Given the description of an element on the screen output the (x, y) to click on. 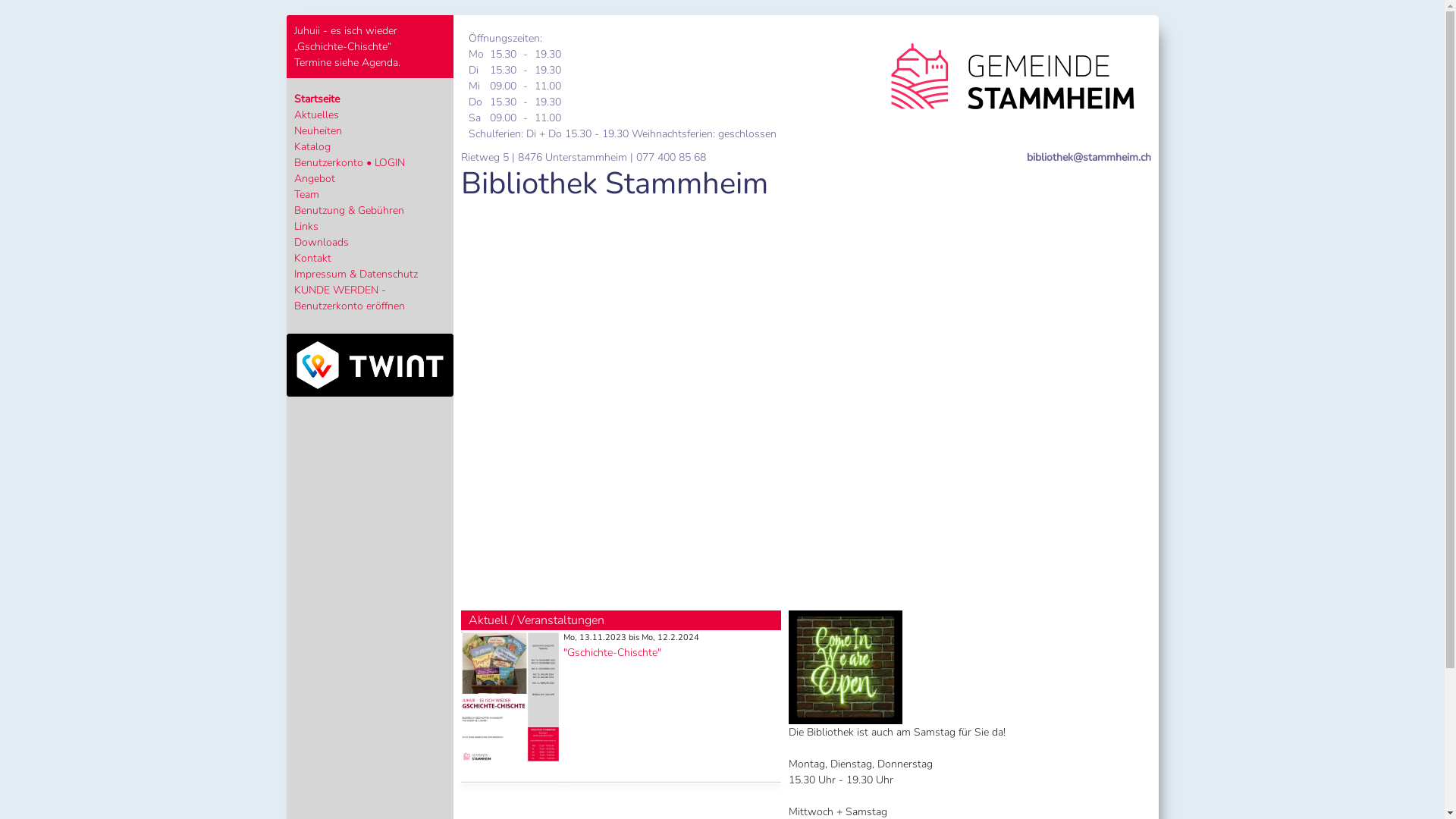
Downloads Element type: text (321, 242)
Impressum & Datenschutz Element type: text (355, 273)
Weiter Element type: text (1099, 397)
Links Element type: text (306, 226)
Startseite Element type: text (316, 98)
Team Element type: text (306, 194)
bibliothek@stammheim.ch Element type: text (1088, 157)
Kontakt Element type: text (312, 258)
"Gschichte-Chischte" Element type: text (611, 651)
Angebot Element type: text (314, 178)
Aktuelles Element type: text (316, 114)
Neuheiten Element type: text (318, 130)
Katalog Element type: text (312, 146)
